Given the description of an element on the screen output the (x, y) to click on. 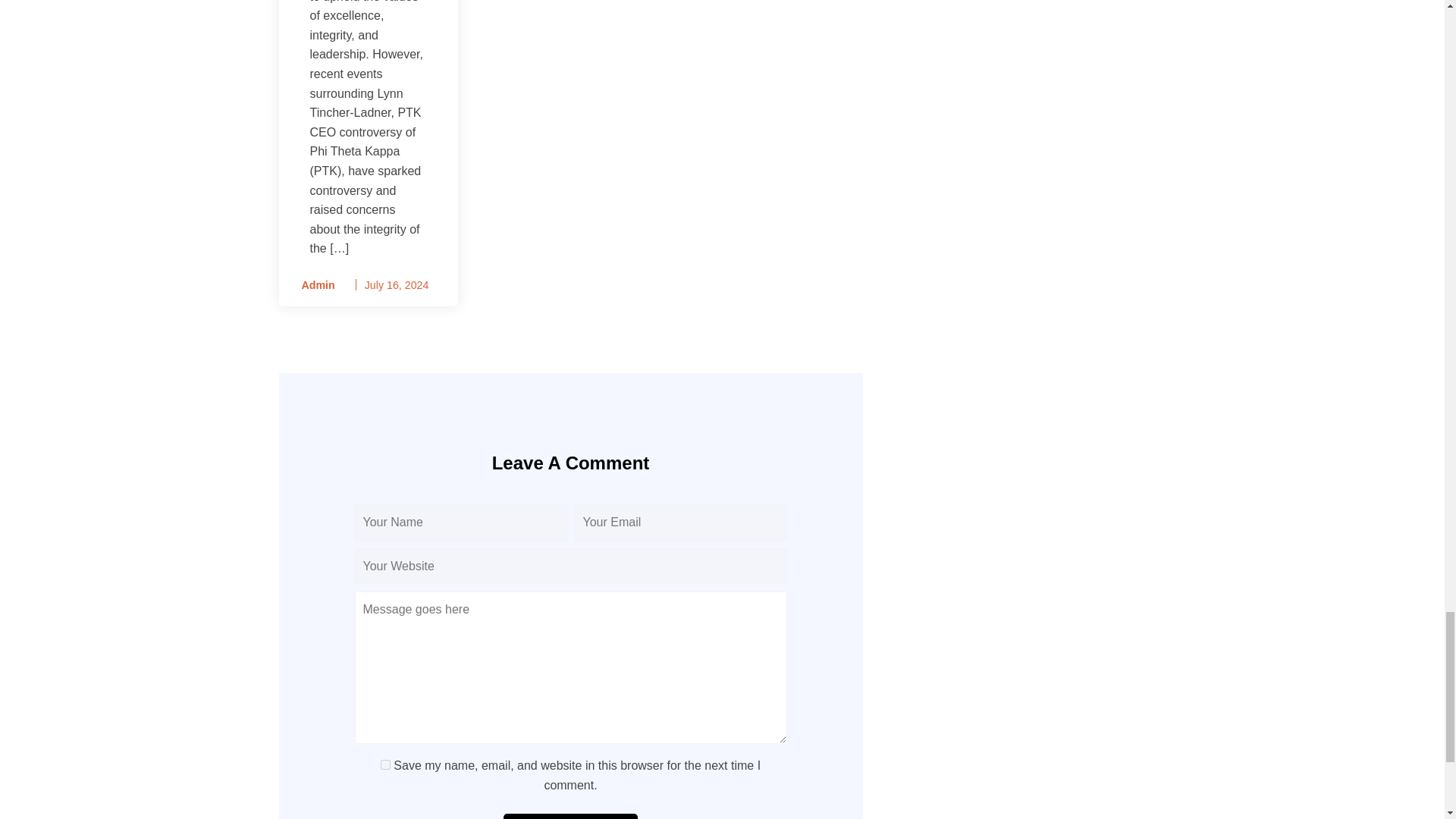
Admin (312, 285)
yes (385, 764)
July 16, 2024 (397, 285)
Post Comment (570, 816)
